Given the description of an element on the screen output the (x, y) to click on. 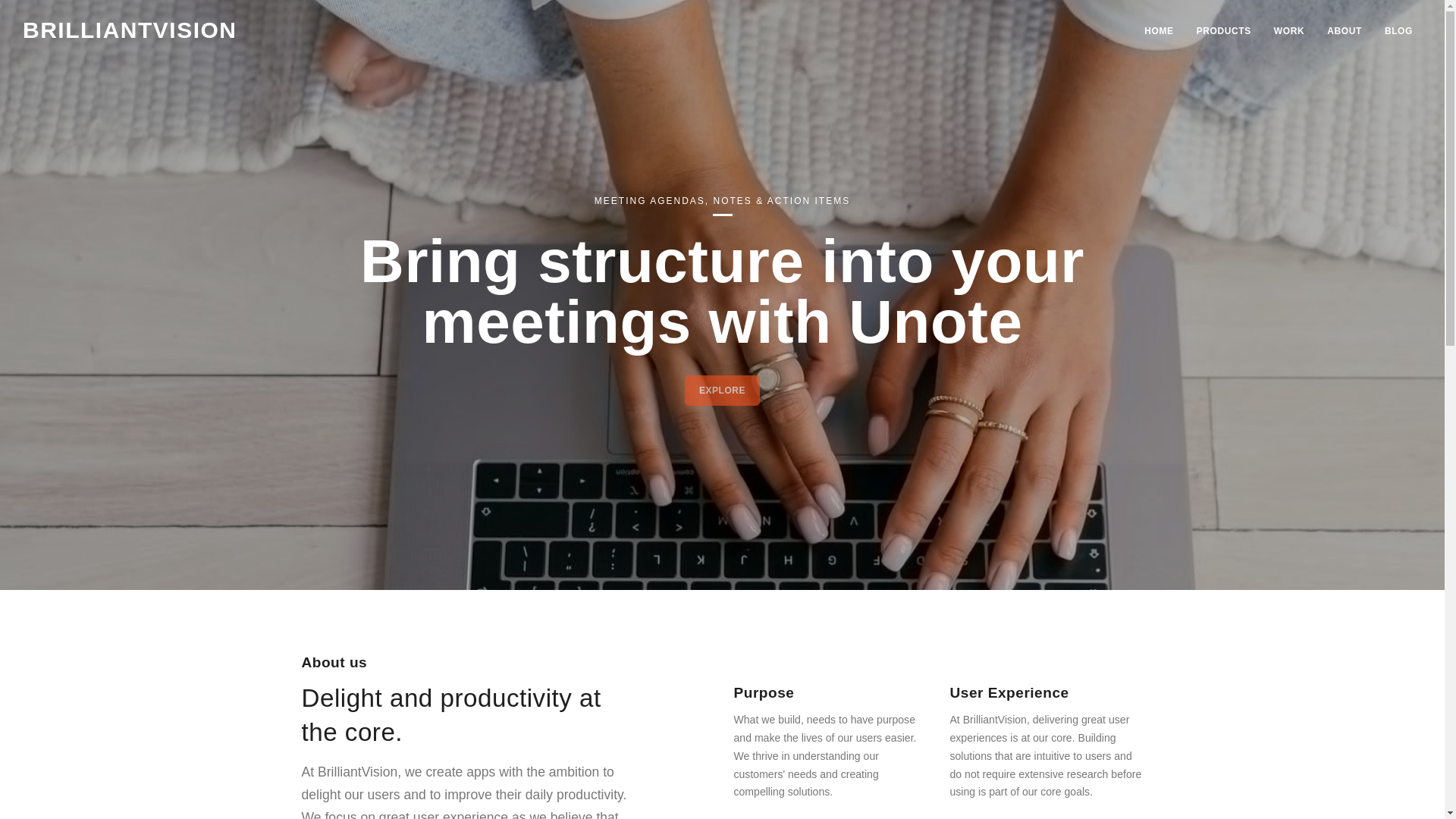
BRILLIANTVISION (130, 30)
HOME (1158, 31)
PRODUCTS (1224, 31)
WORK (1289, 31)
ABOUT (1344, 31)
